Given the description of an element on the screen output the (x, y) to click on. 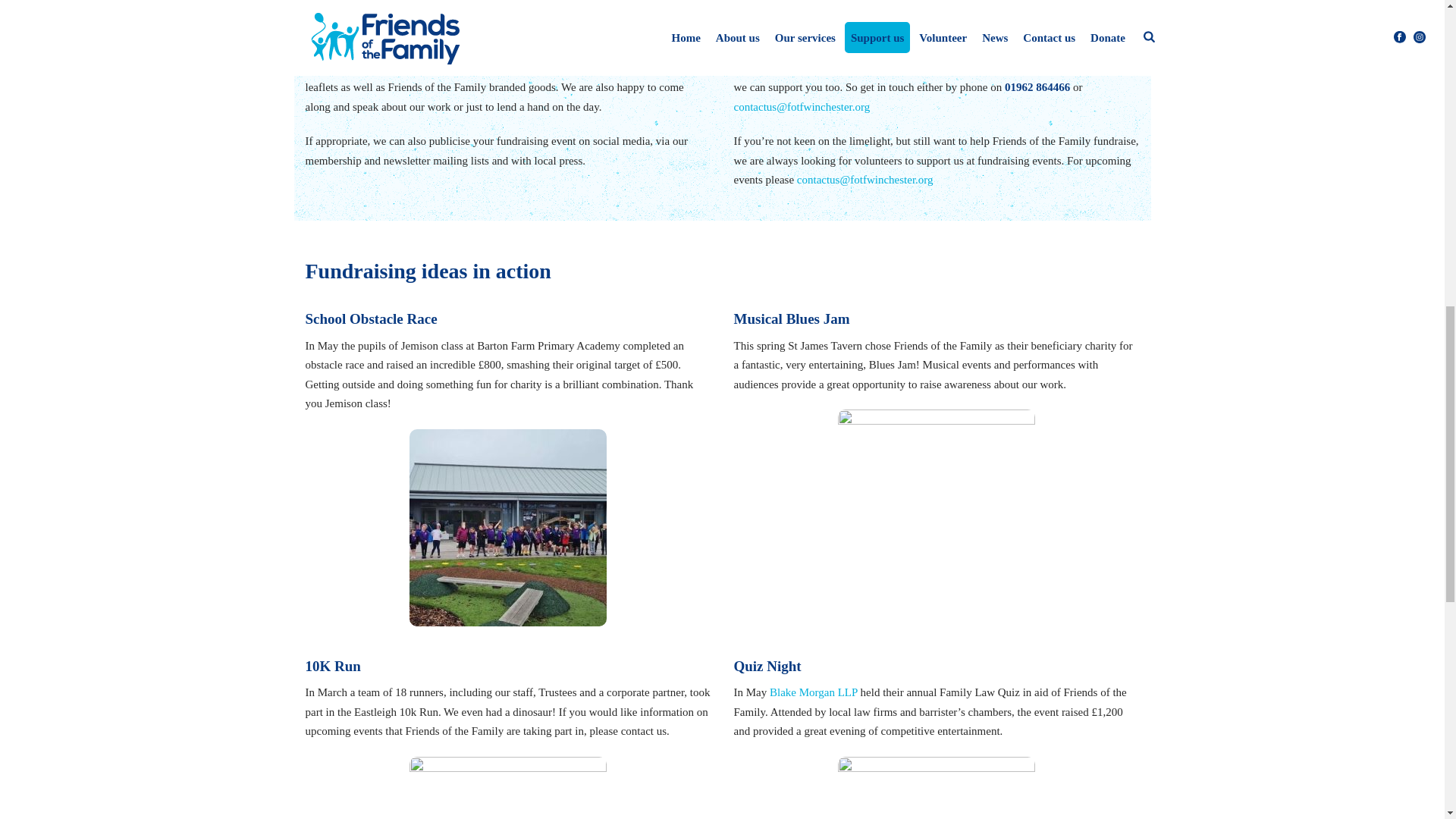
barton-farm-resized (508, 527)
blake-morgan-quiz-square (936, 787)
blues-jam-resized (936, 507)
dinosaur-2-resized (508, 787)
